Given the description of an element on the screen output the (x, y) to click on. 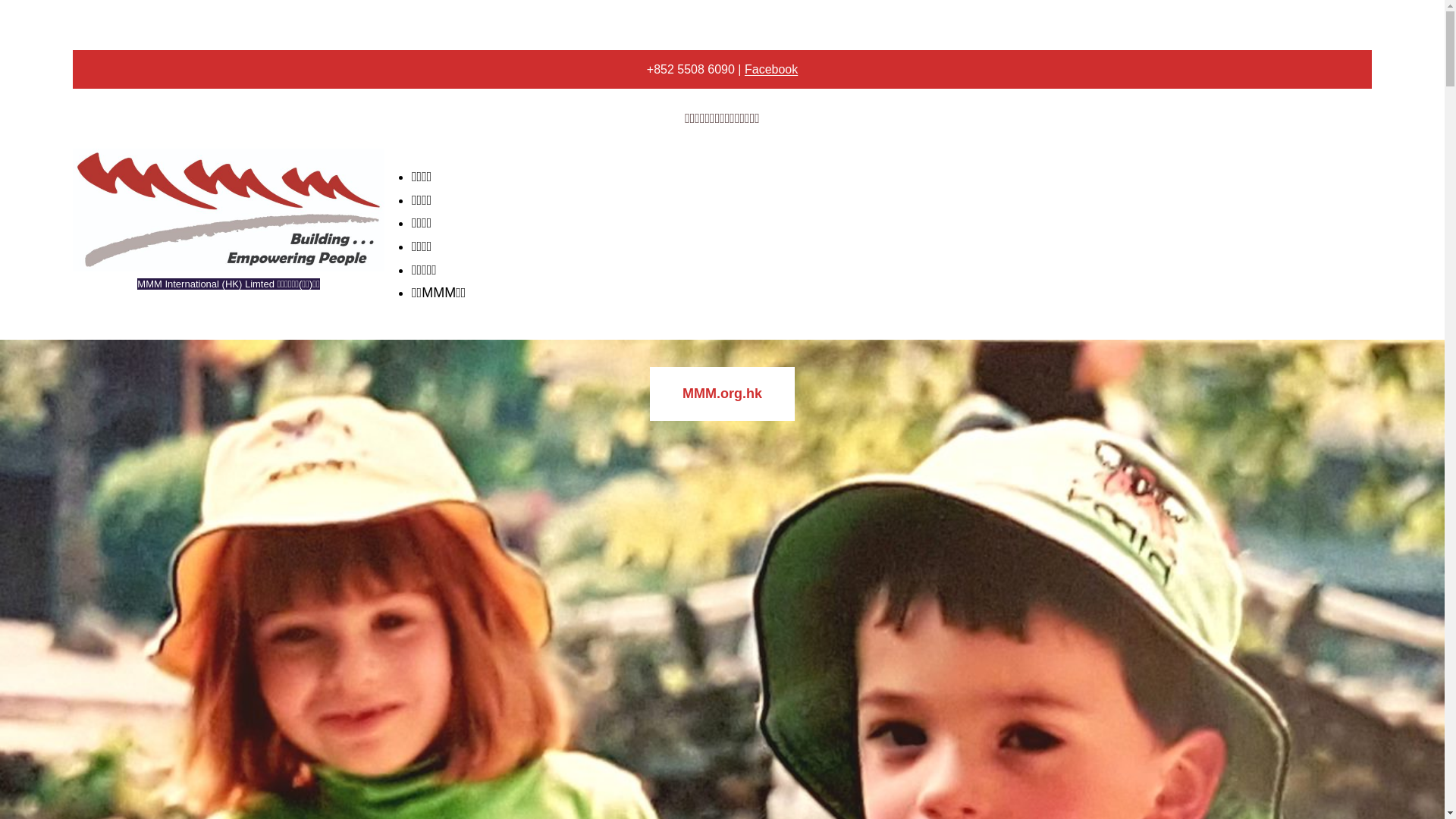
Facebook Element type: text (770, 68)
